Given the description of an element on the screen output the (x, y) to click on. 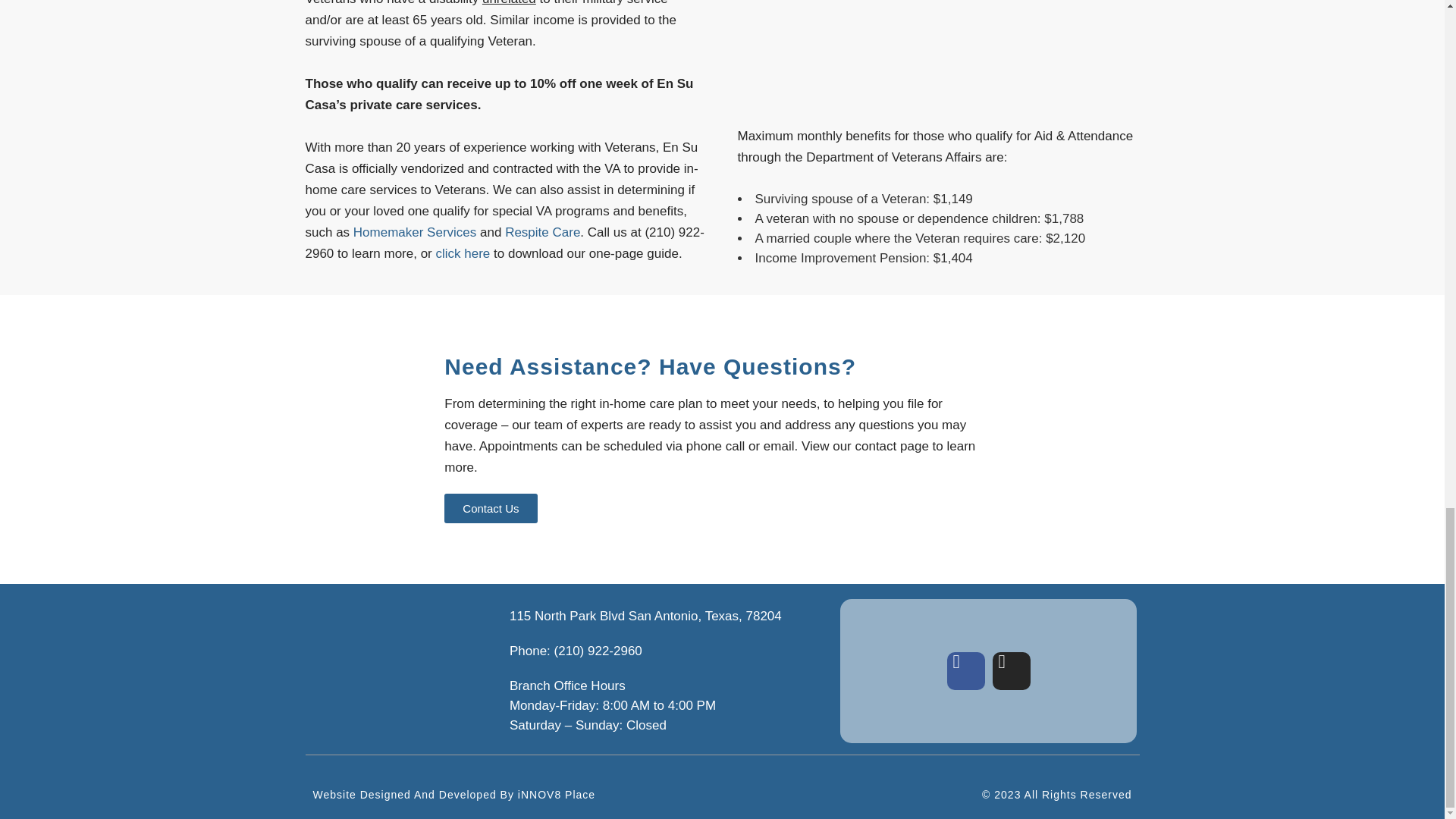
Respite Care (542, 232)
Homemaker Services (415, 232)
Contact Us (490, 508)
iNNOV8 Place (556, 794)
click here (462, 253)
